Given the description of an element on the screen output the (x, y) to click on. 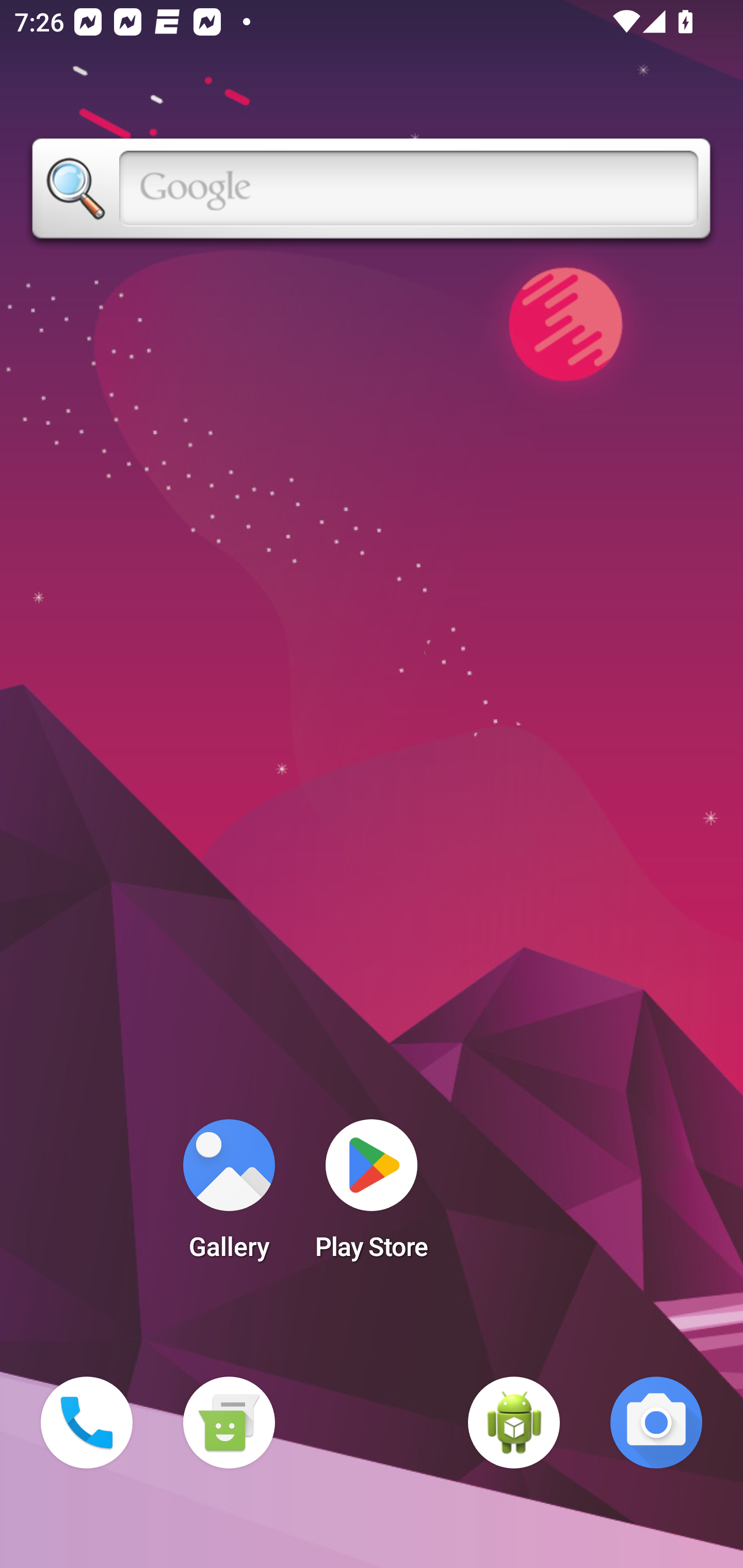
Gallery (228, 1195)
Play Store (371, 1195)
Phone (86, 1422)
Messaging (228, 1422)
WebView Browser Tester (513, 1422)
Camera (656, 1422)
